Given the description of an element on the screen output the (x, y) to click on. 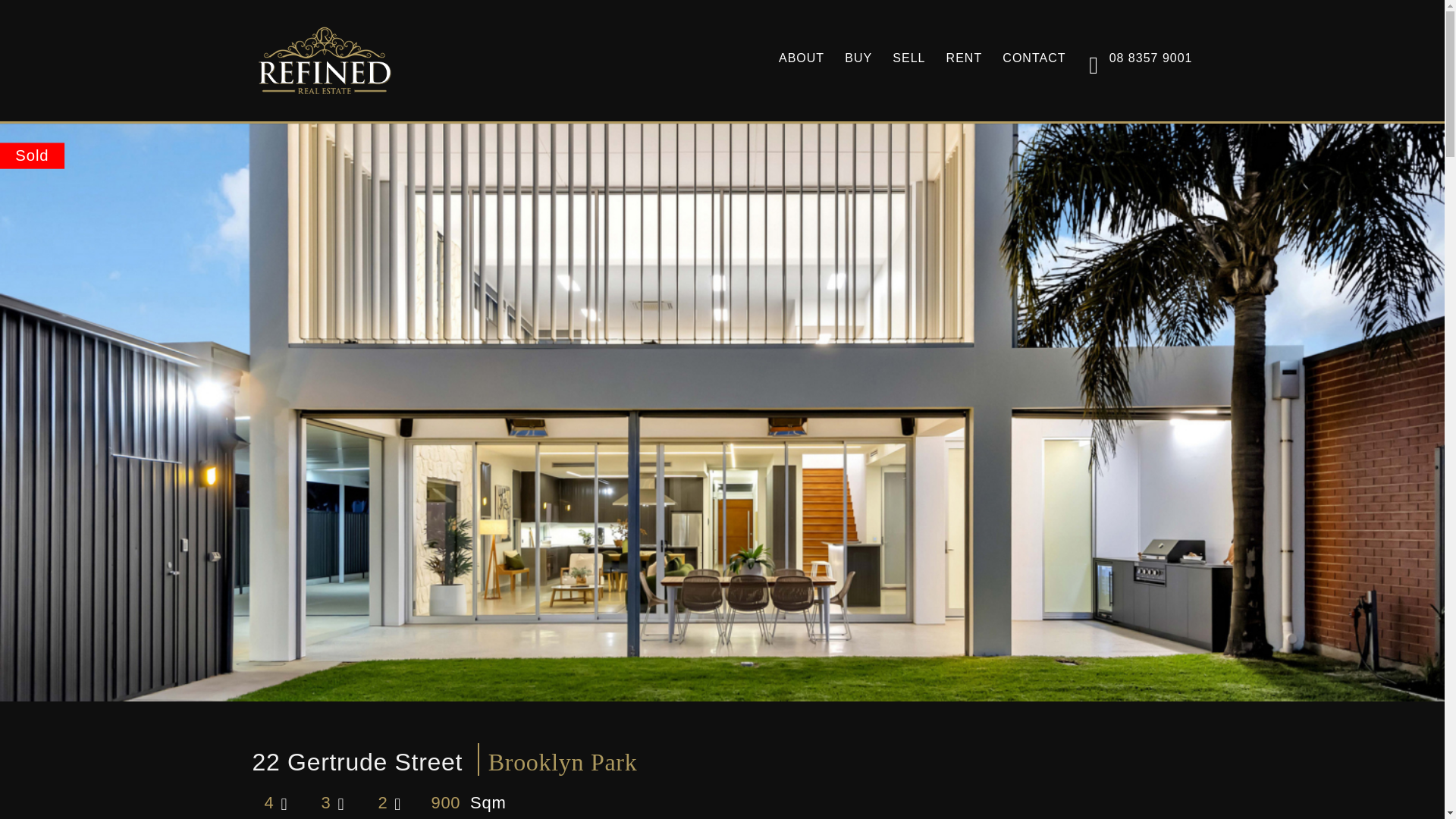
Bathrooms (340, 802)
SELL (908, 58)
Parking Spaces (397, 802)
08 8357 9001 (1139, 60)
CONTACT (1034, 58)
RENT (964, 58)
Bedrooms (283, 802)
ABOUT (801, 58)
